Given the description of an element on the screen output the (x, y) to click on. 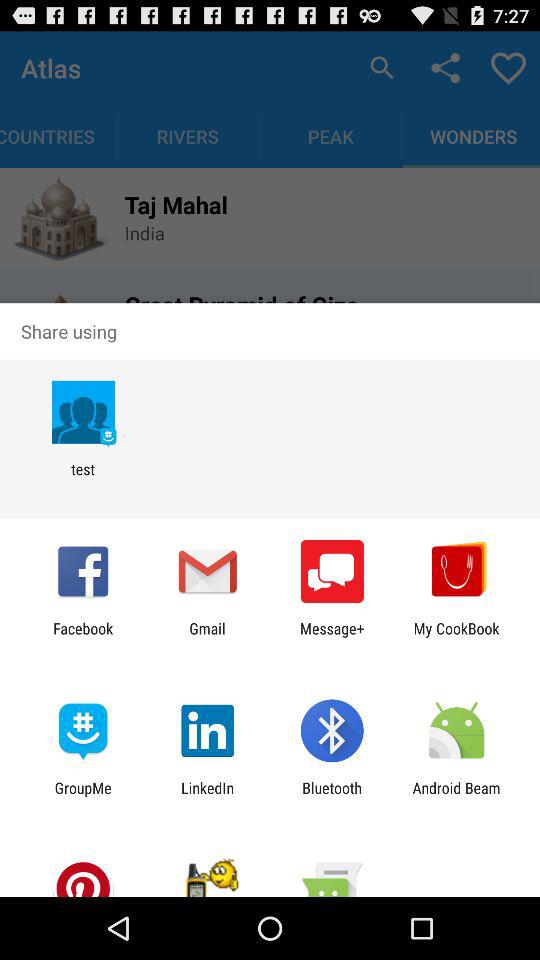
launch item next to facebook item (207, 637)
